Given the description of an element on the screen output the (x, y) to click on. 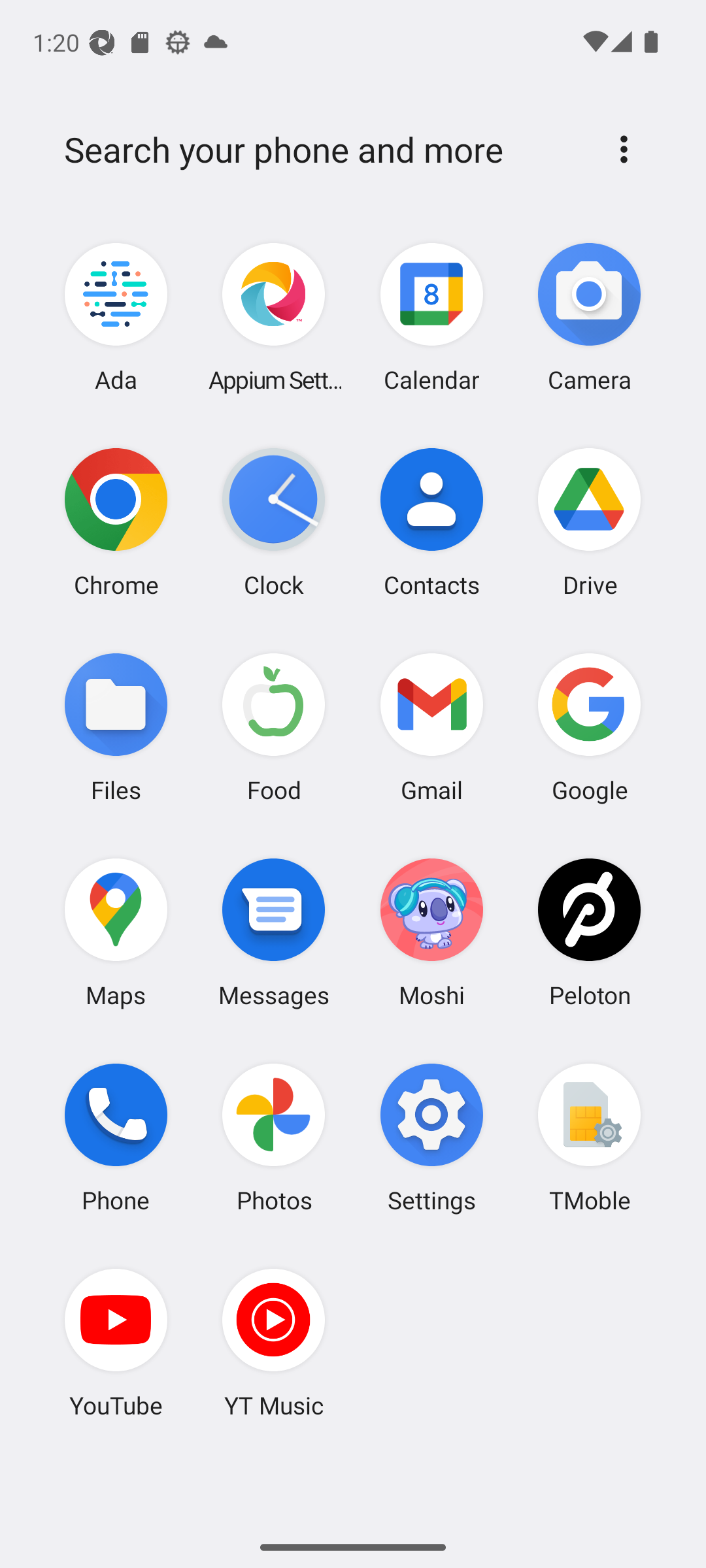
Search your phone and more (321, 149)
Preferences (623, 149)
Ada (115, 317)
Appium Settings (273, 317)
Calendar (431, 317)
Camera (589, 317)
Chrome (115, 522)
Clock (273, 522)
Contacts (431, 522)
Drive (589, 522)
Files (115, 726)
Food (273, 726)
Gmail (431, 726)
Google (589, 726)
Maps (115, 931)
Messages (273, 931)
Moshi (431, 931)
Peloton (589, 931)
Phone (115, 1137)
Photos (273, 1137)
Settings (431, 1137)
TMoble (589, 1137)
YouTube (115, 1342)
YT Music (273, 1342)
